Given the description of an element on the screen output the (x, y) to click on. 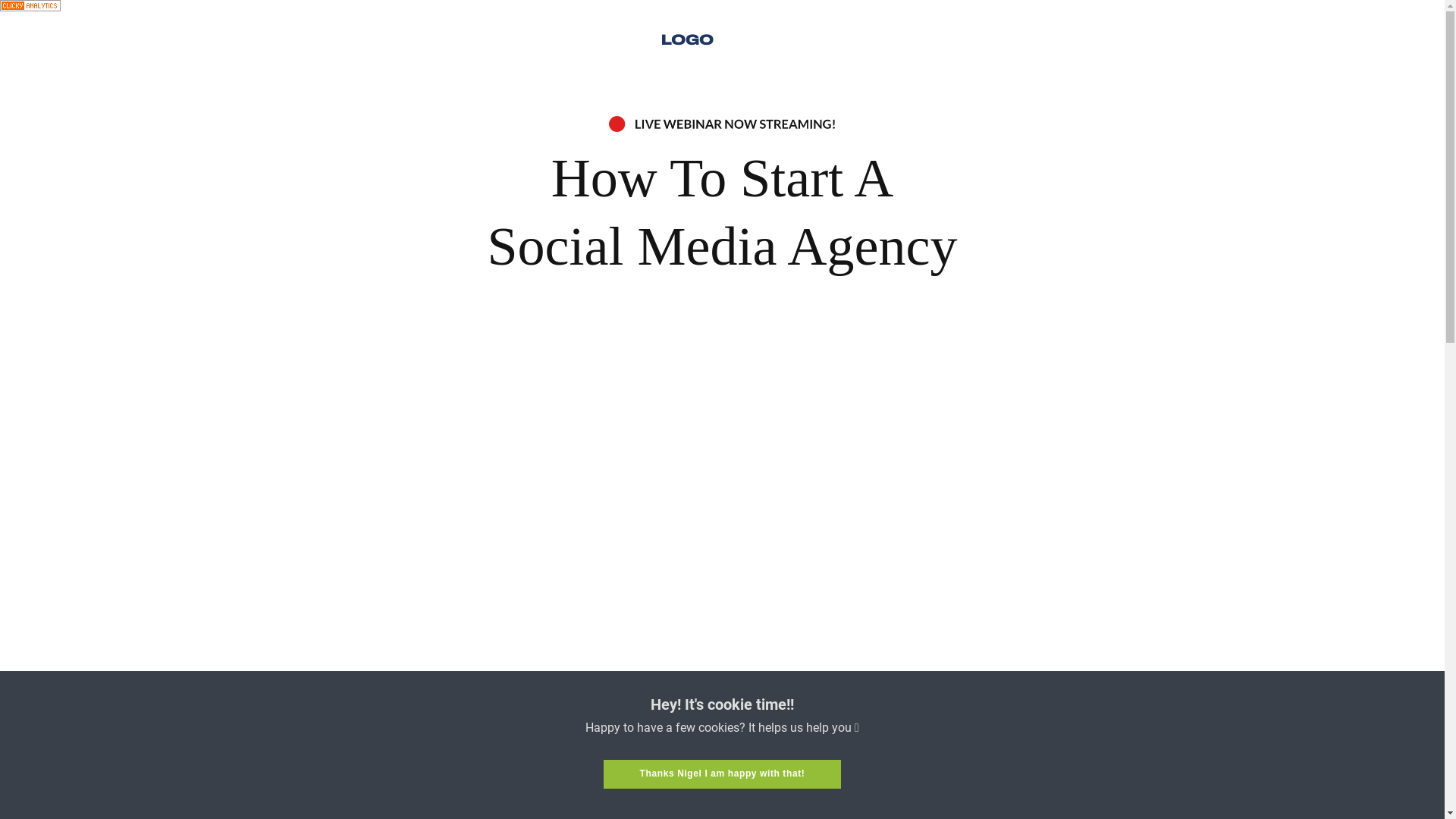
Thanks Nigel I am happy with that! Element type: text (722, 773)
GDPR-compliant Web Analytics Element type: hover (30, 6)
Get Started Element type: text (722, 763)
